Given the description of an element on the screen output the (x, y) to click on. 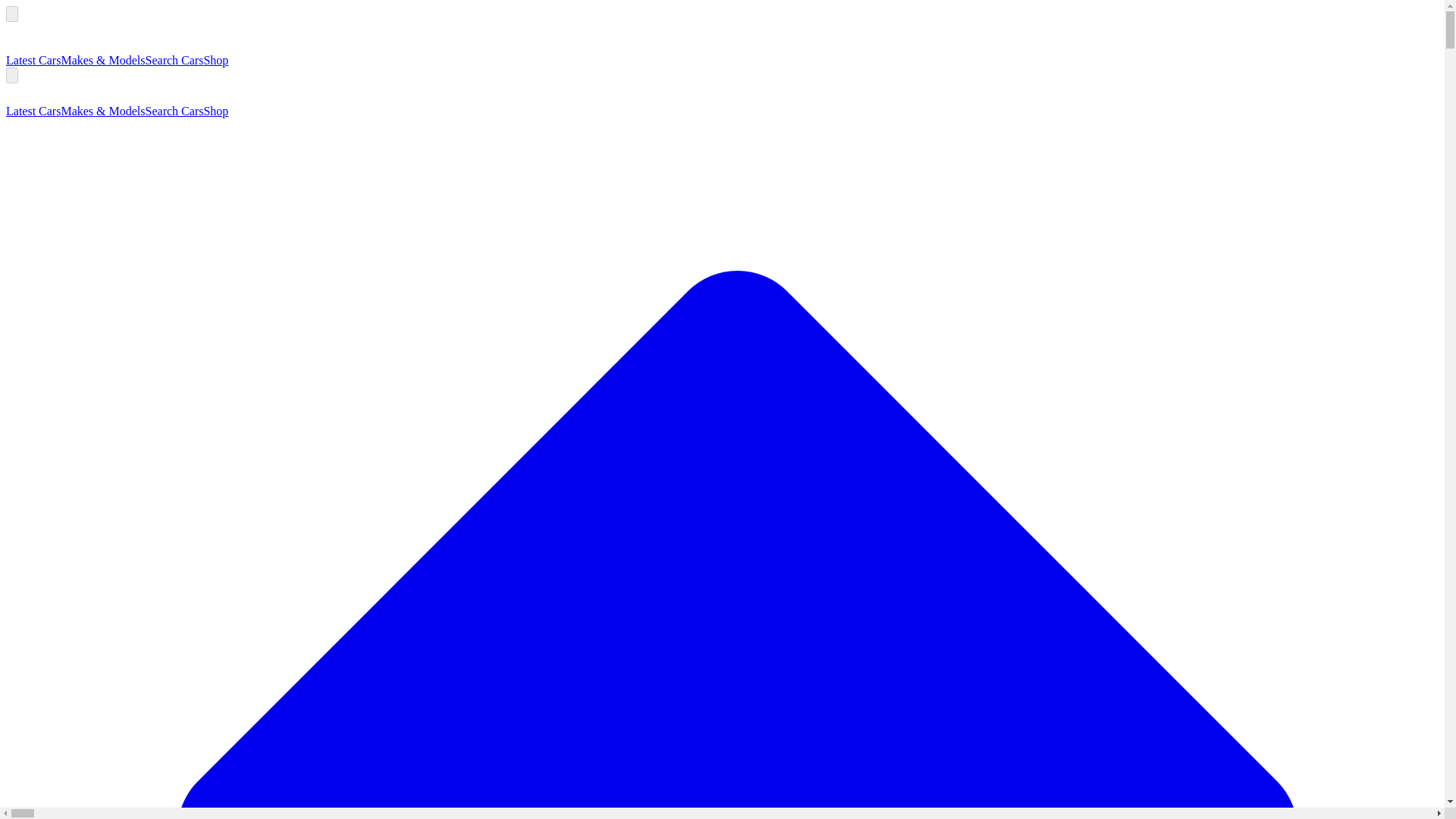
Search Cars (174, 110)
Latest Cars (33, 60)
Shop (215, 60)
Search Cars (174, 60)
Shop (215, 110)
Latest Cars (33, 110)
